Given the description of an element on the screen output the (x, y) to click on. 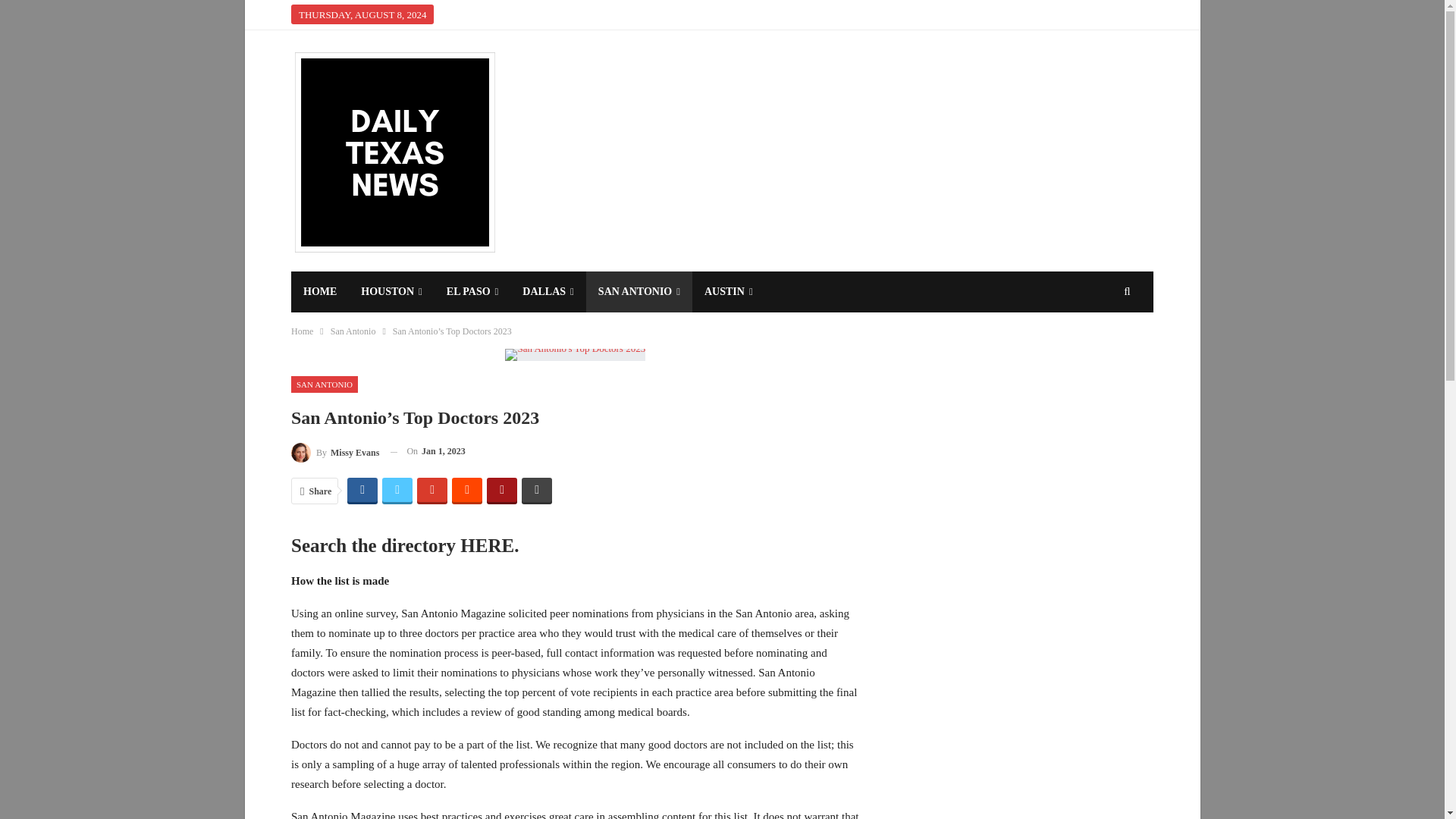
SAN ANTONIO (639, 291)
HOUSTON (391, 291)
EL PASO (472, 291)
DALLAS (548, 291)
HOME (320, 291)
